Given the description of an element on the screen output the (x, y) to click on. 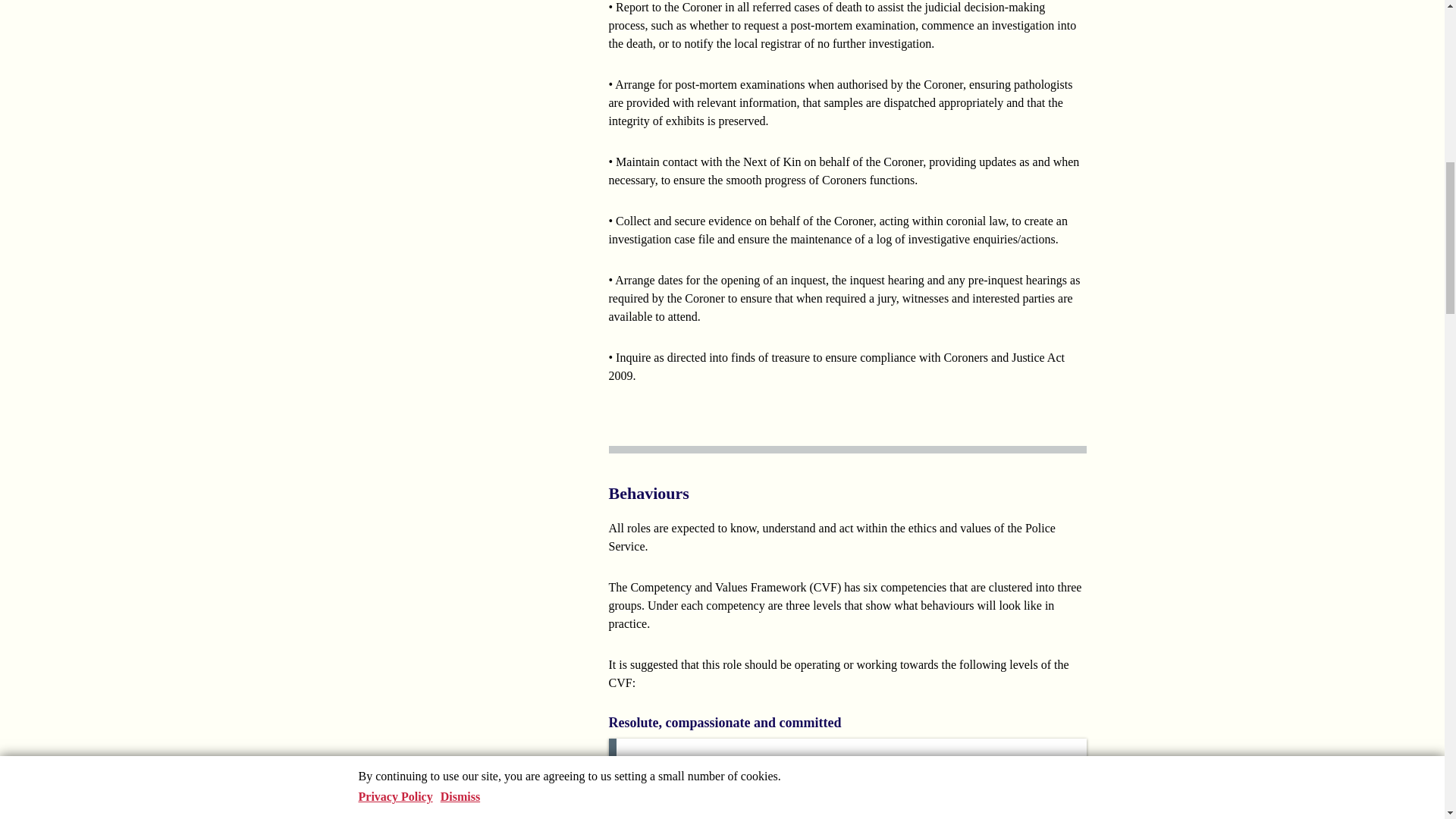
CVF Level 1 (1034, 812)
CVF Level 1 (1034, 763)
